Given the description of an element on the screen output the (x, y) to click on. 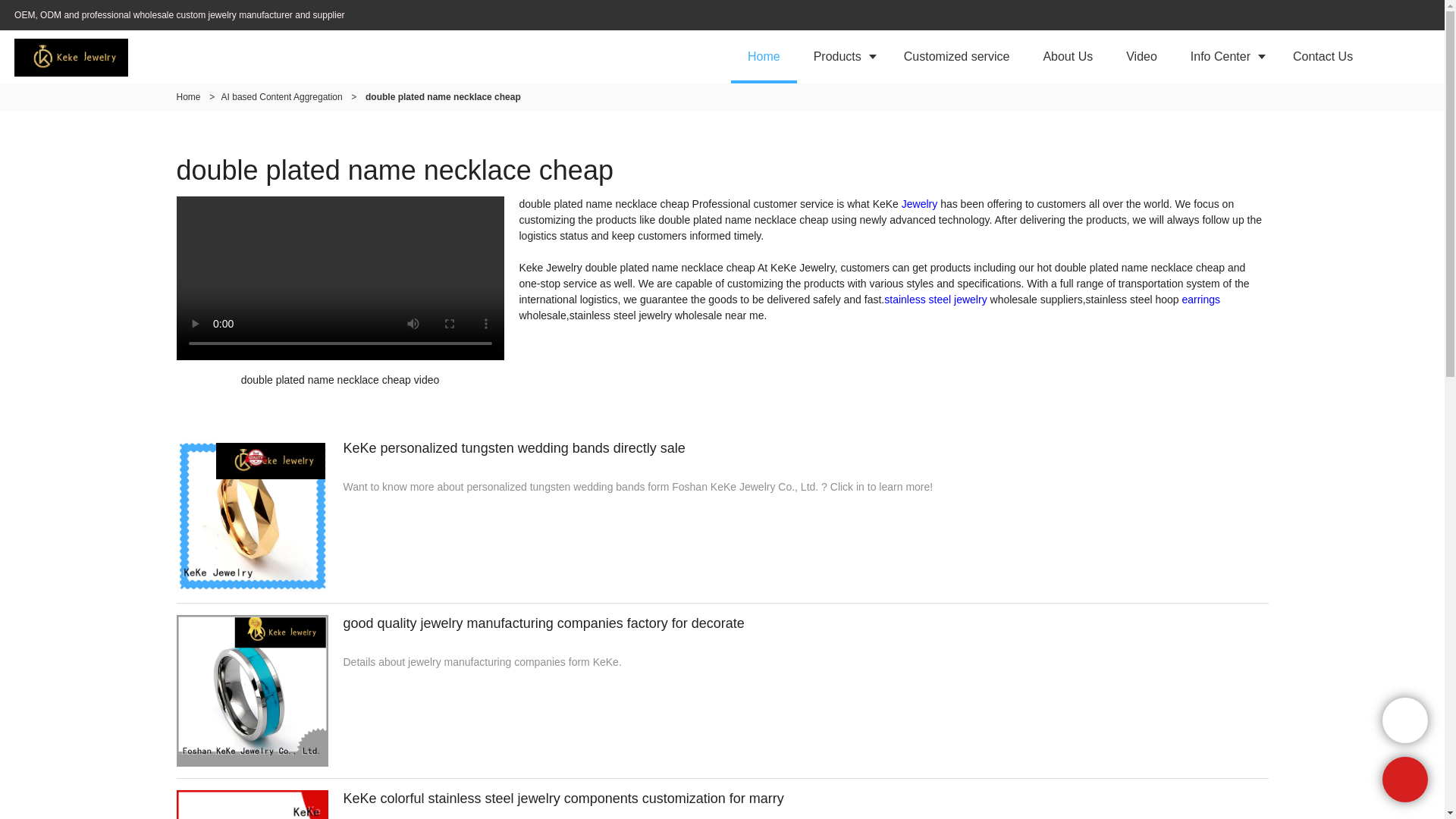
Home (763, 56)
Customized service (956, 56)
About Us (1067, 56)
Products (841, 56)
